Given the description of an element on the screen output the (x, y) to click on. 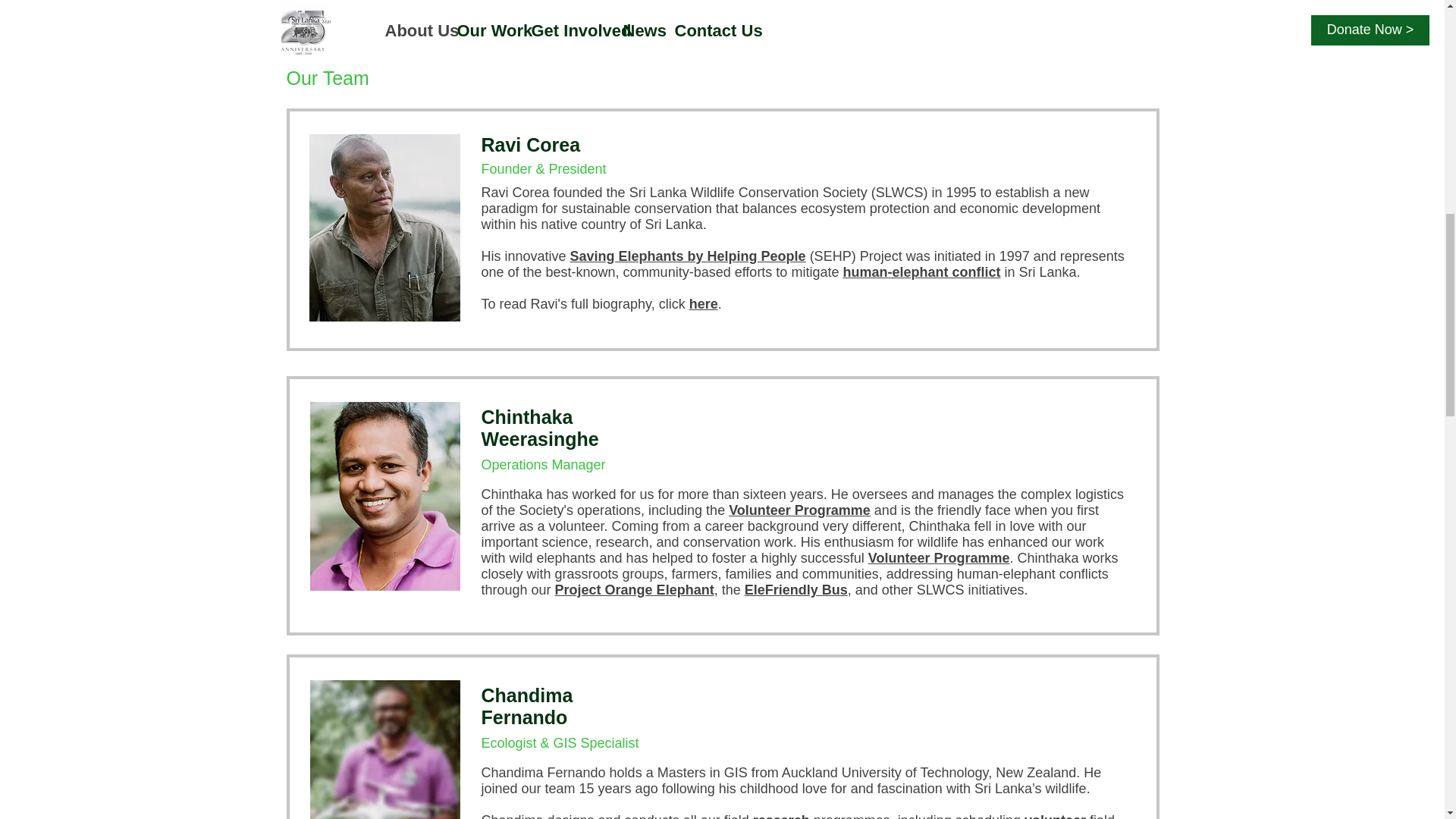
research (780, 816)
here (702, 304)
Volunteer Programme (938, 557)
Project Orange Elephant (634, 589)
volunteer (1055, 816)
Volunteer Programme (799, 509)
Saving Elephants by Helping People (688, 255)
EleFriendly Bus (795, 589)
human-elephant conflict (921, 272)
